Given the description of an element on the screen output the (x, y) to click on. 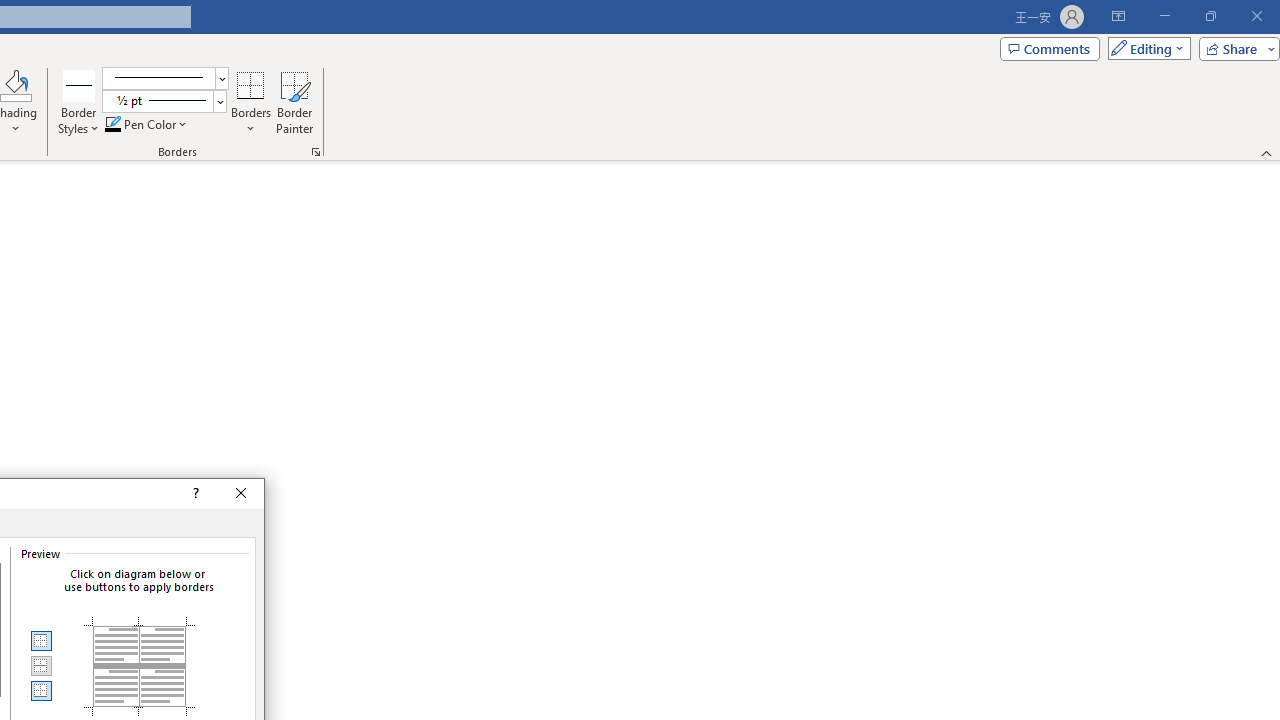
Pen Weight (164, 101)
Context help (194, 493)
Pen Style (165, 78)
Top Border (40, 641)
Bottom Border (40, 690)
Pen Color RGB(0, 0, 0) (113, 124)
Border Styles (79, 84)
Editing (1144, 47)
